Given the description of an element on the screen output the (x, y) to click on. 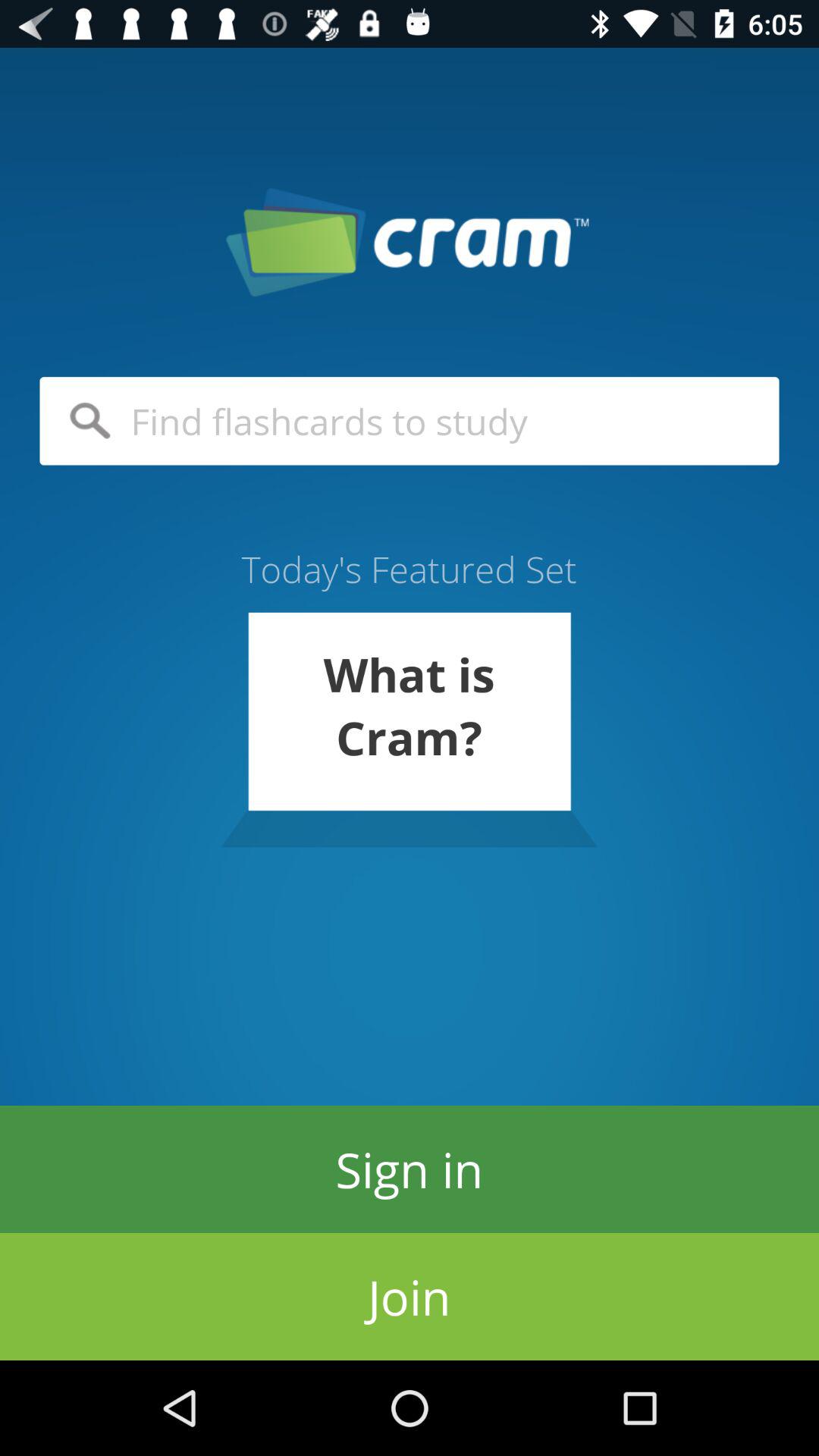
launch icon above the today s featured item (409, 421)
